Given the description of an element on the screen output the (x, y) to click on. 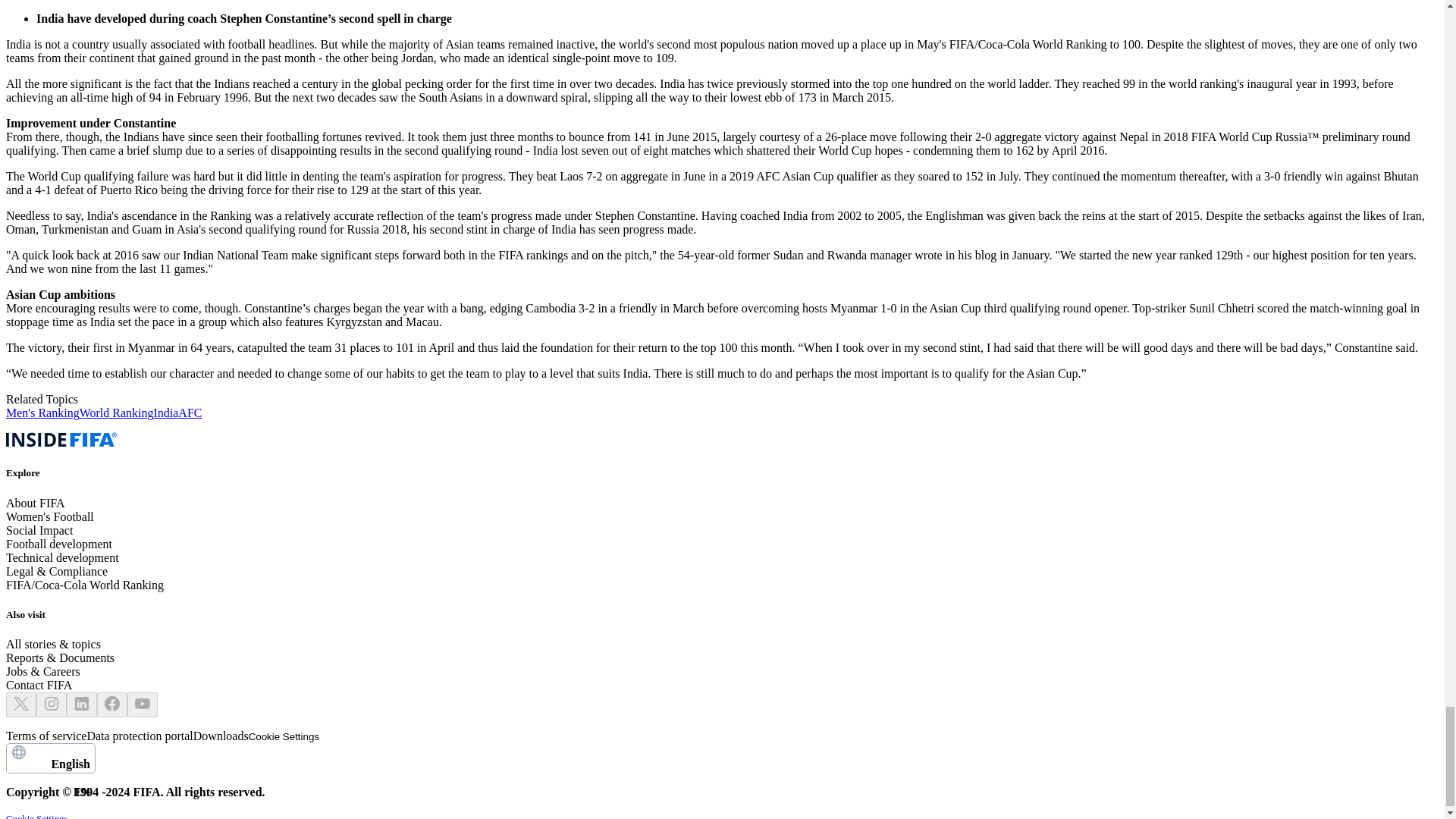
About FIFA (50, 757)
Social Impact (35, 502)
World Ranking (38, 530)
Women's Football (117, 412)
Terms of service (49, 516)
Downloads (45, 735)
India (220, 735)
Data protection portal (164, 412)
Men's Ranking (138, 735)
